Given the description of an element on the screen output the (x, y) to click on. 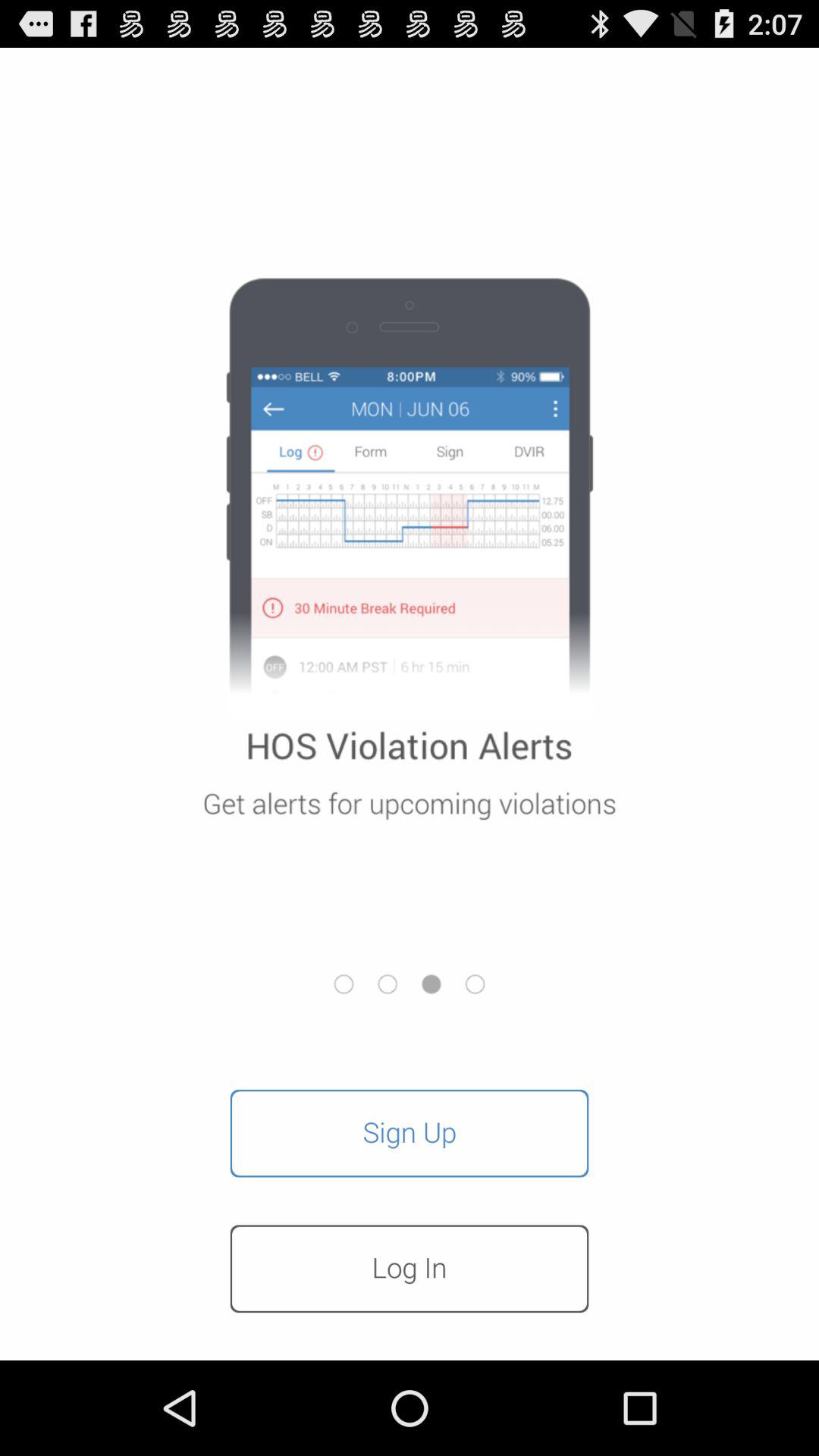
swipe to the log in button (409, 1268)
